Given the description of an element on the screen output the (x, y) to click on. 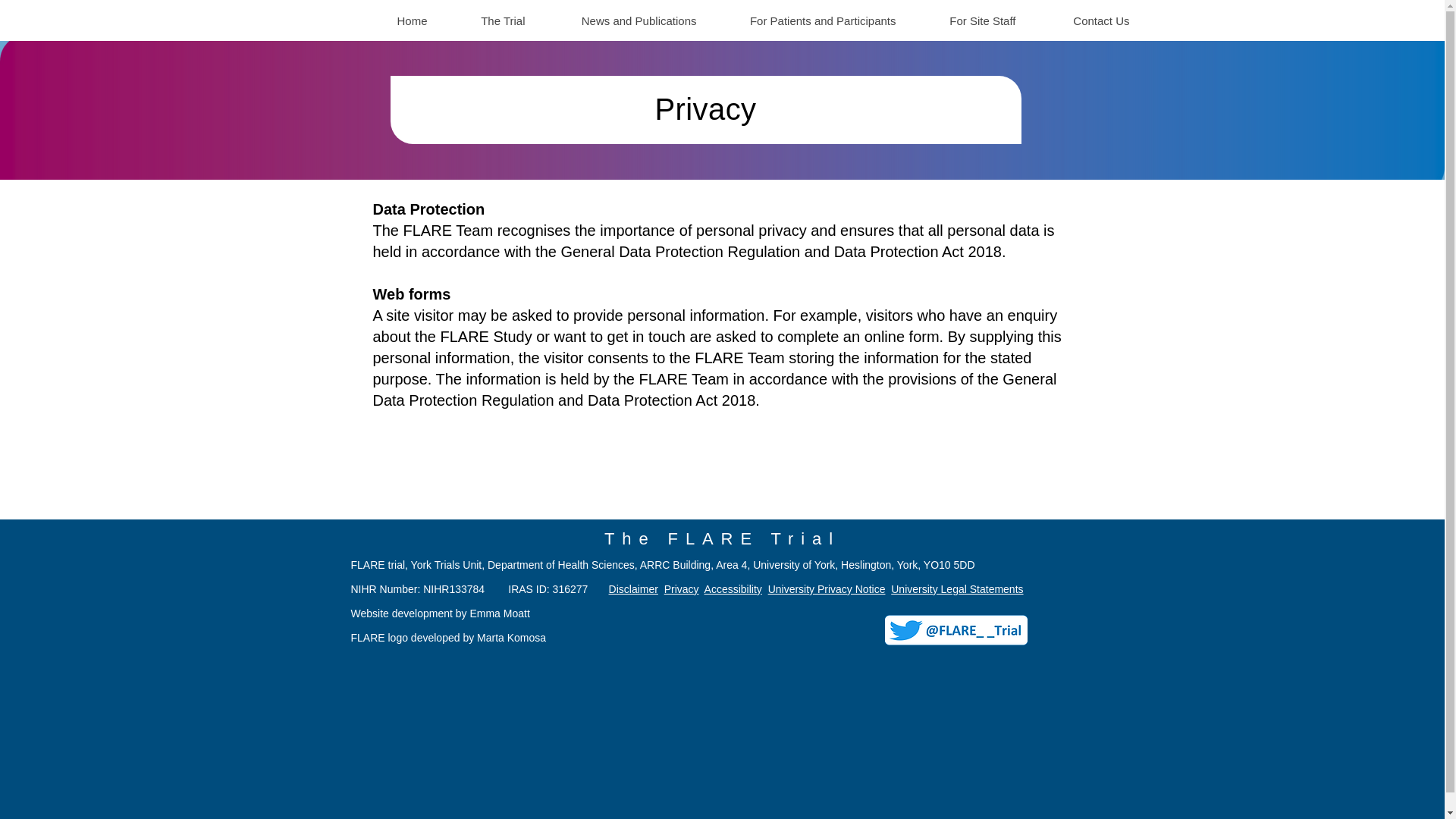
Accessibility (732, 589)
The Trial (486, 20)
Disclaimer (633, 589)
Contact Us (1083, 20)
University Privacy Notice (826, 589)
For Site Staff (966, 20)
University Legal Statements (957, 589)
News and Publications (622, 20)
Home (394, 20)
The FLARE Trial (722, 538)
